Given the description of an element on the screen output the (x, y) to click on. 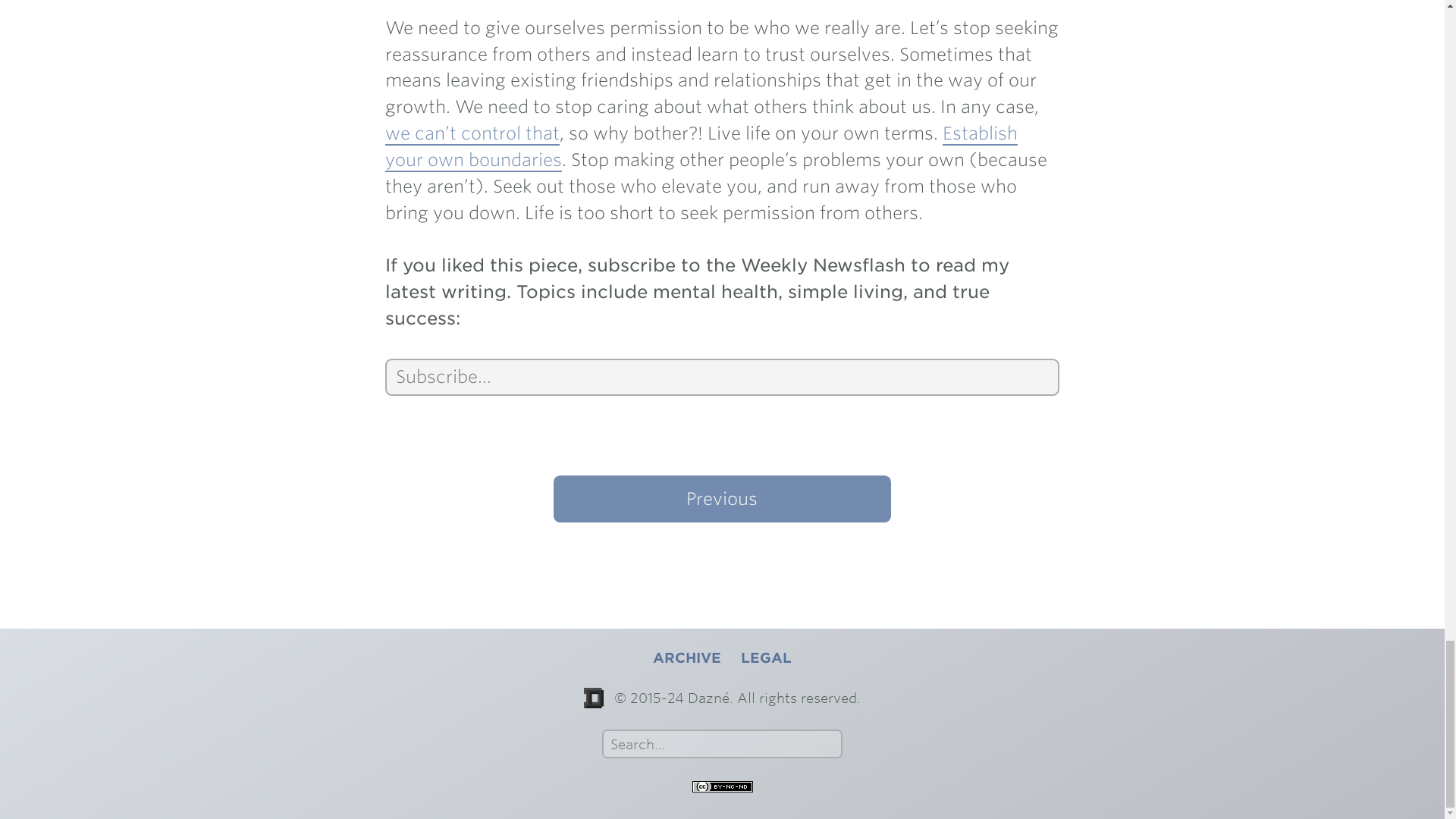
Previous (721, 499)
LEGAL (766, 657)
ARCHIVE (686, 657)
Establish your own boundaries (701, 146)
